Given the description of an element on the screen output the (x, y) to click on. 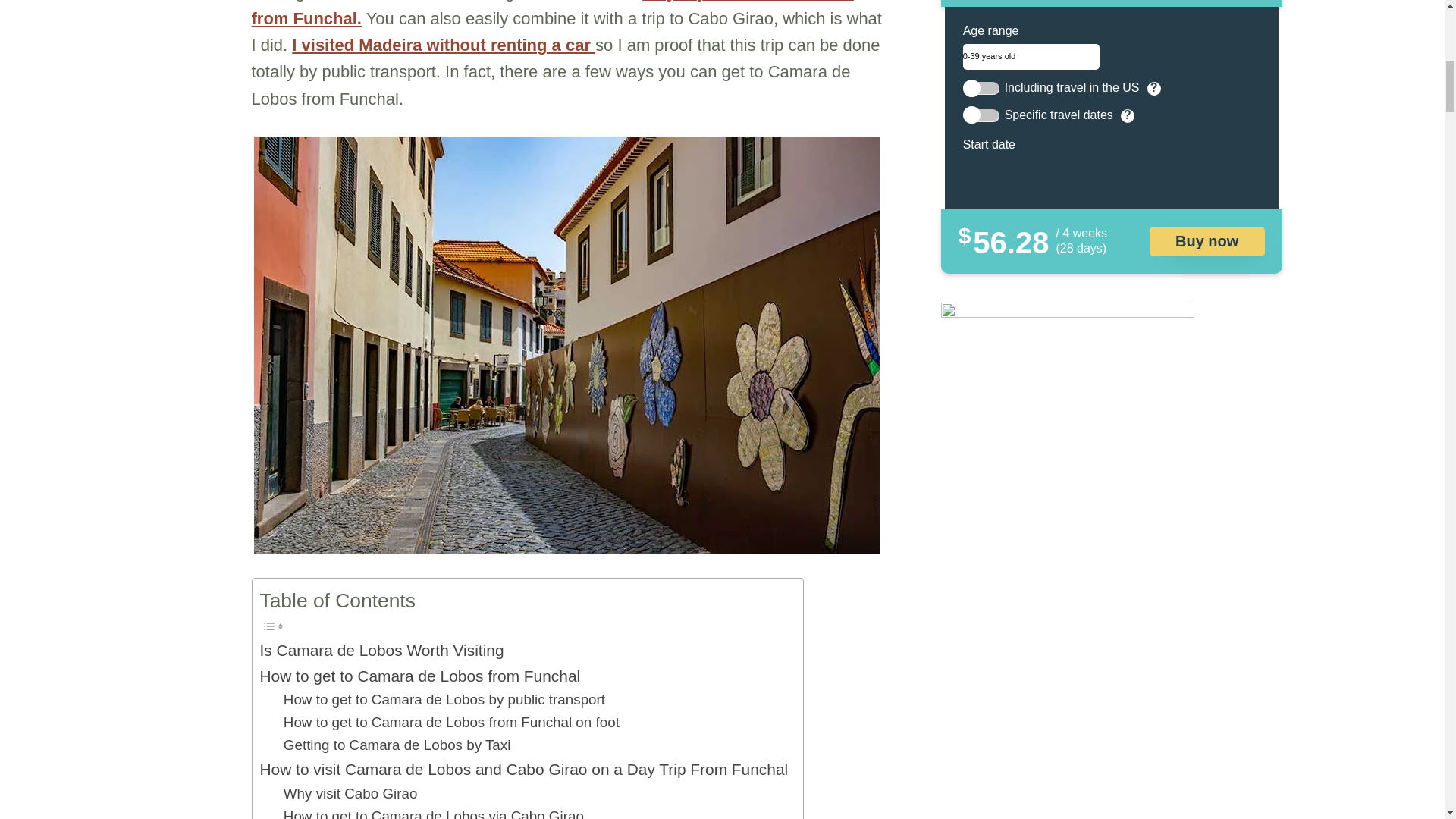
day trips that can be done from Funchal. (552, 13)
How to get to Camara de Lobos from Funchal (419, 675)
Why visit Cabo Girao (350, 793)
Is Camara de Lobos Worth Visiting (381, 650)
How to get to Camara de Lobos from Funchal (419, 675)
I visited Madeira without renting a car (443, 45)
Getting to Camara de Lobos by Taxi (397, 744)
How to get to Camara de Lobos from Funchal on foot (451, 722)
How to get to Camara de Lobos by public transport (444, 699)
How to get to Camara de Lobos by public transport (444, 699)
Getting to Camara de Lobos by Taxi (397, 744)
How to get to Camara de Lobos from Funchal on foot (451, 722)
How to get to Camara de Lobos via Cabo Girao (433, 812)
Is Camara de Lobos Worth Visiting (381, 650)
